Given the description of an element on the screen output the (x, y) to click on. 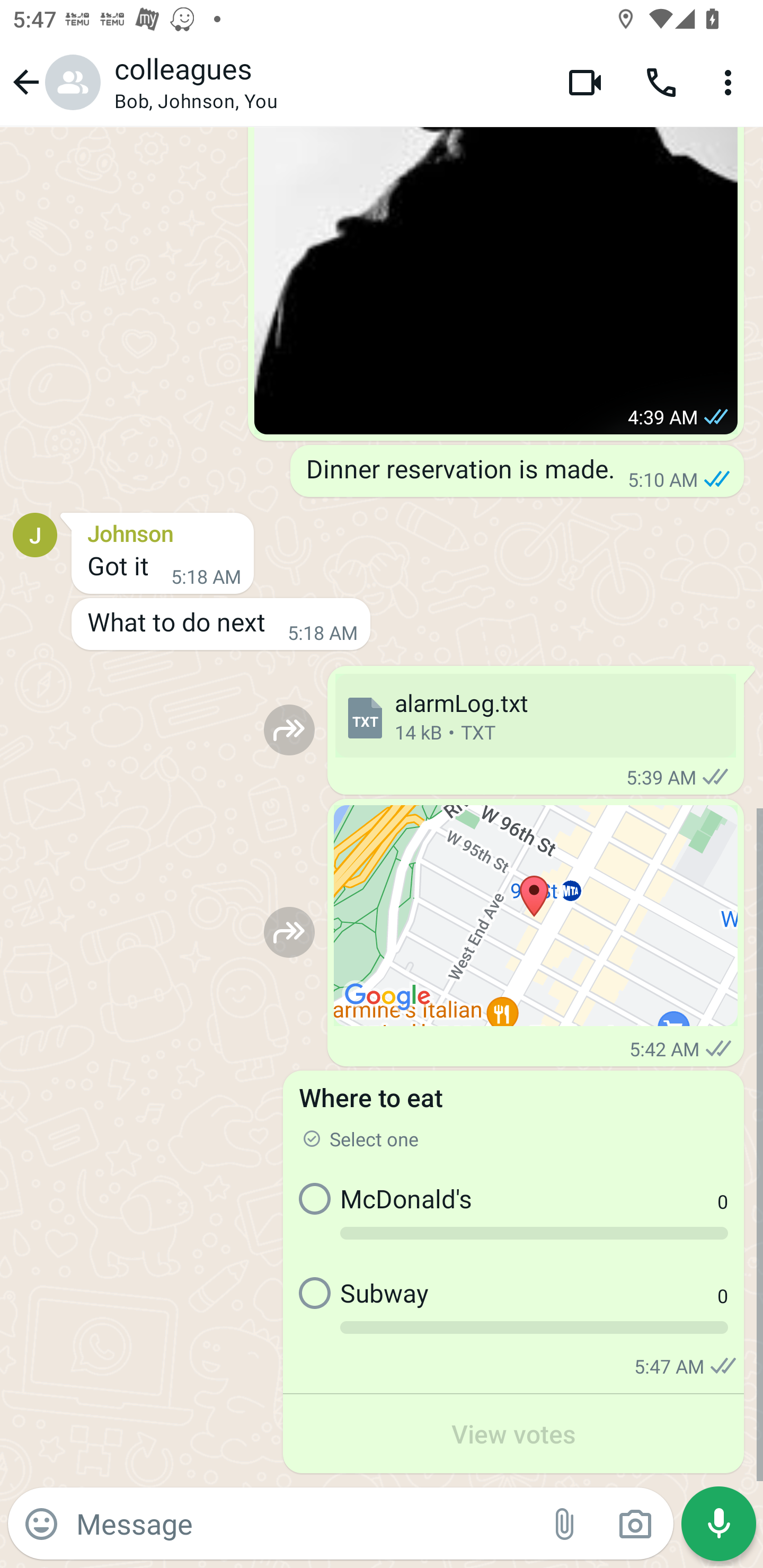
colleagues Bob, Johnson, You (327, 82)
Navigate up (54, 82)
Video call (585, 81)
Voice call (661, 81)
More options (731, 81)
View photo (495, 280)
Profile picture for Johnson J (34, 534)
Johnson (162, 530)
alarmLog.txt 14 kB • TXT (535, 715)
Forward to… (288, 729)
Location (535, 915)
Forward to… (288, 932)
0 (689, 1213)
0 (689, 1308)
View votes (513, 1433)
Emoji (41, 1523)
Attach (565, 1523)
Camera (634, 1523)
Message (303, 1523)
